Given the description of an element on the screen output the (x, y) to click on. 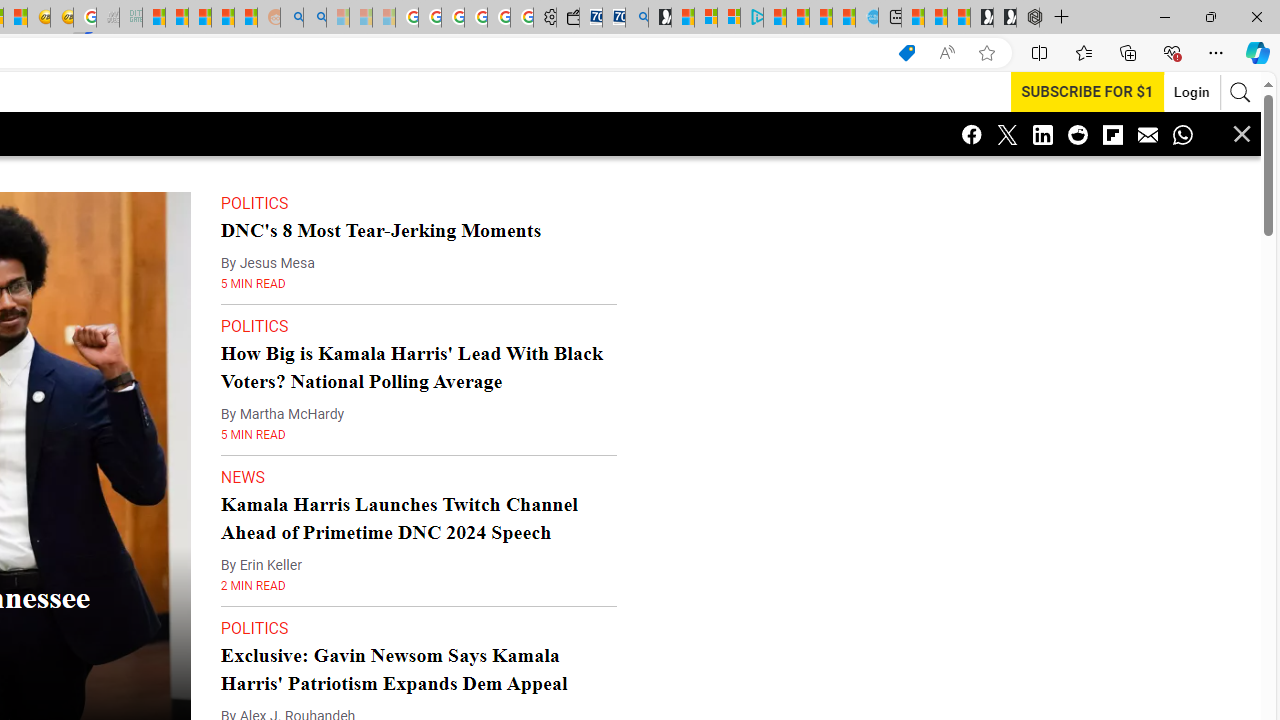
Class: icon-linkedin (1042, 133)
Class: icon-flipboard (1112, 133)
Class: icon icon-email (1147, 133)
